Given the description of an element on the screen output the (x, y) to click on. 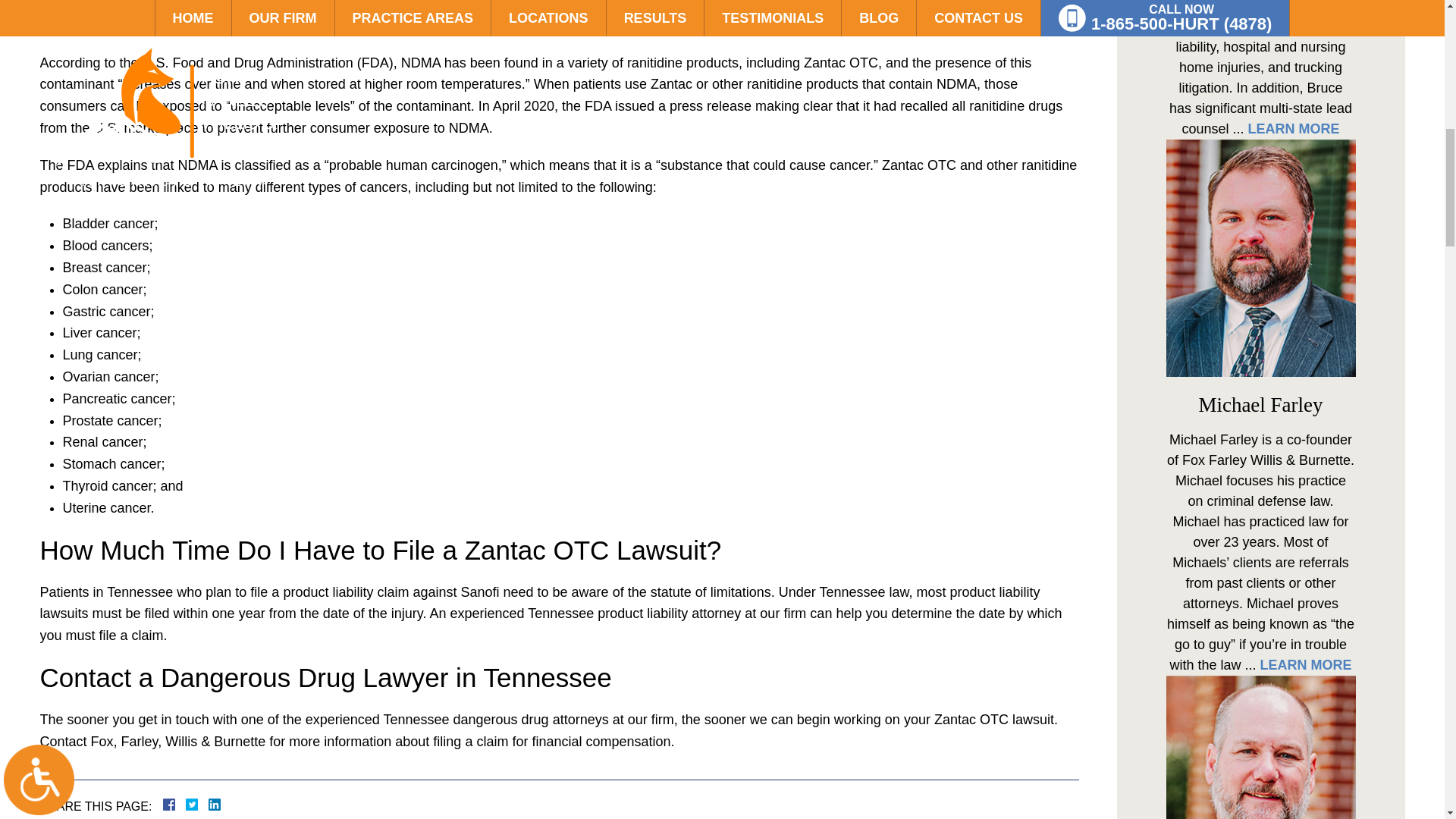
Facebook (187, 804)
John Andrew Willis (1260, 747)
Twitter (197, 804)
LinkedIn (208, 804)
